Given the description of an element on the screen output the (x, y) to click on. 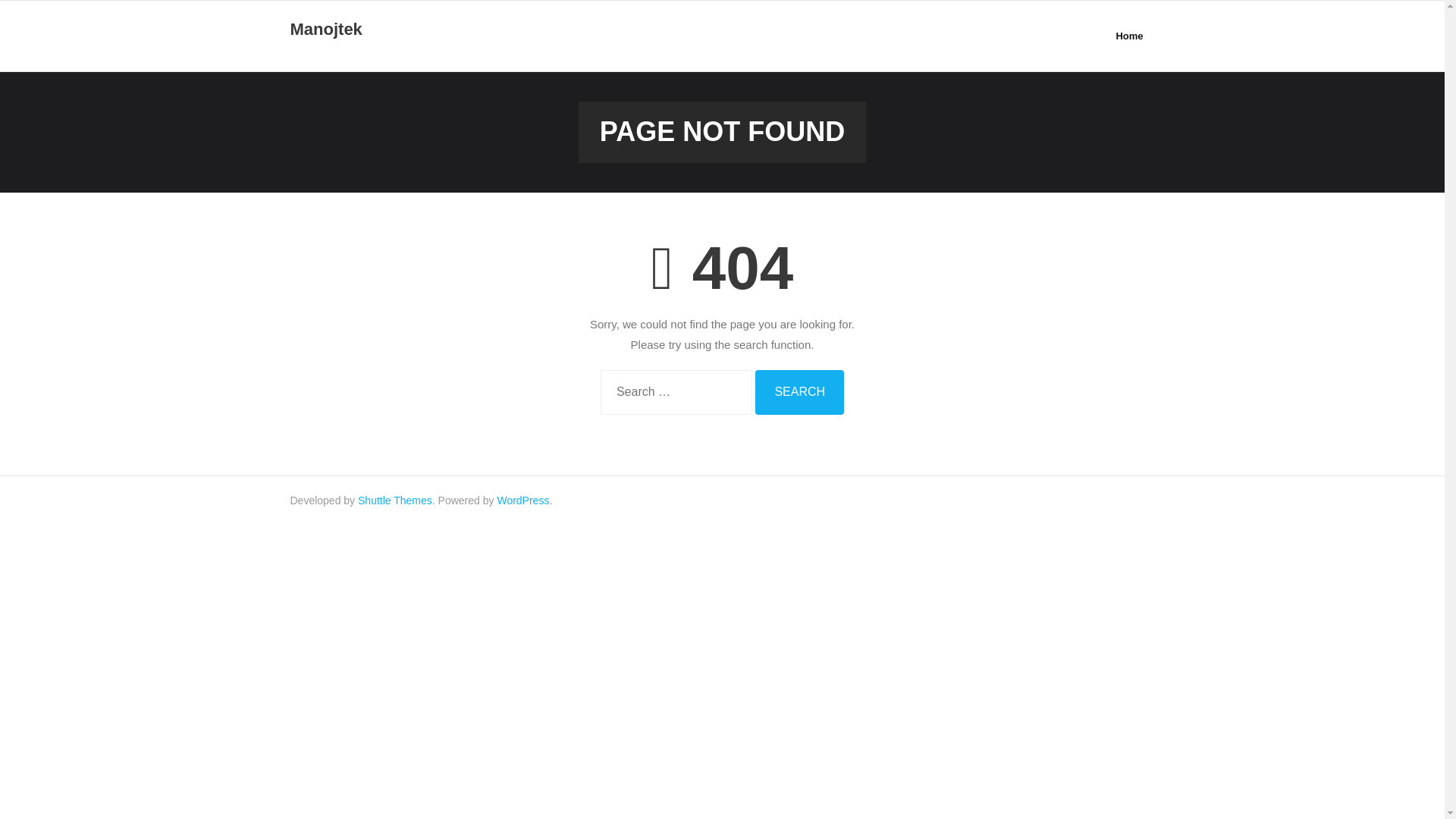
Manojtek (325, 29)
Search (799, 392)
Search (799, 392)
Manojtek (325, 29)
Shuttle Themes (395, 500)
Search (799, 392)
WordPress (522, 500)
